Given the description of an element on the screen output the (x, y) to click on. 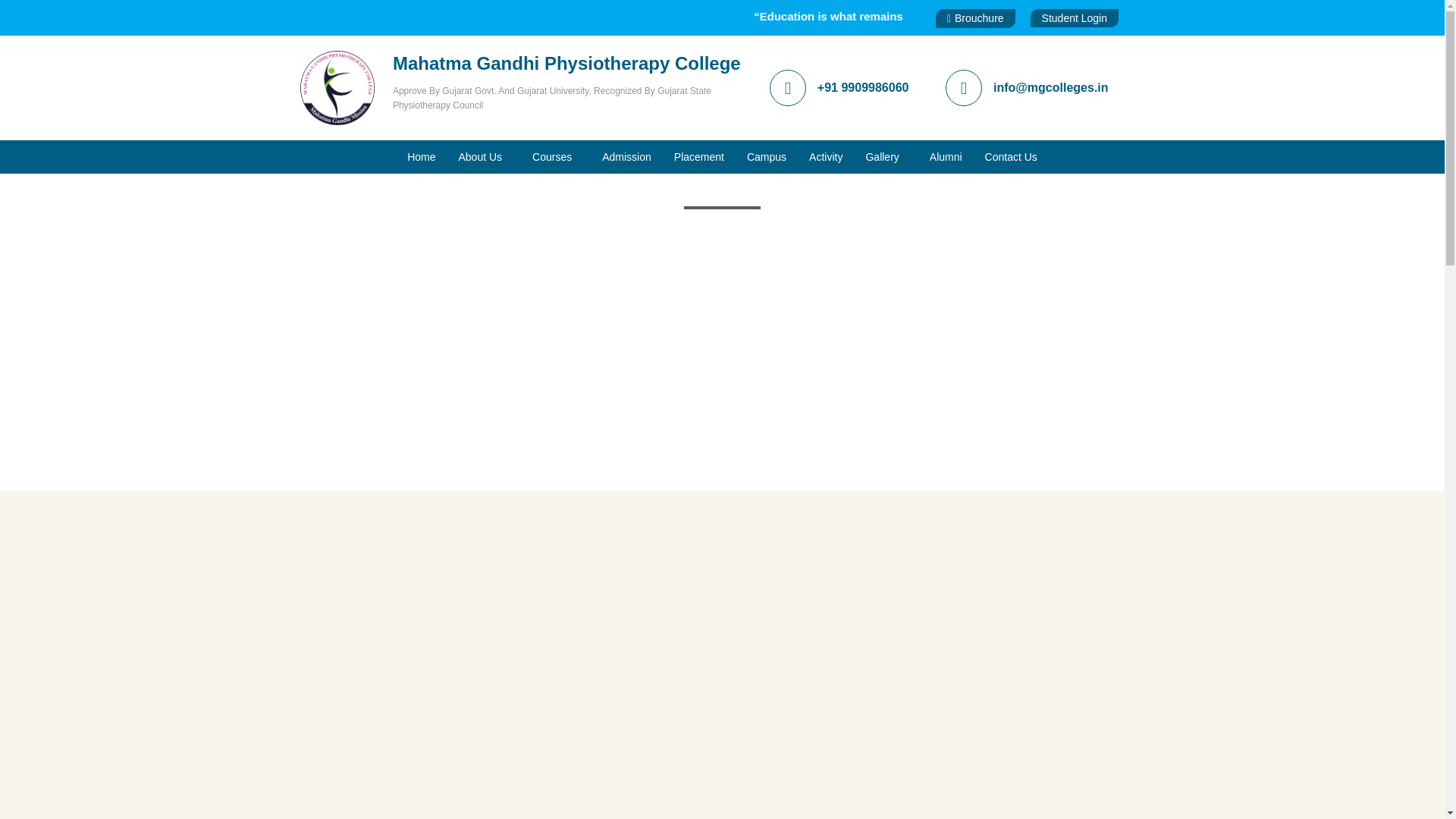
Activity (825, 156)
Home (421, 156)
Student Login (1074, 18)
Admission (626, 156)
Campus (766, 156)
Placement (698, 156)
Gallery (885, 156)
Alumni (946, 156)
Courses (556, 156)
Contact Us (1011, 156)
